Given the description of an element on the screen output the (x, y) to click on. 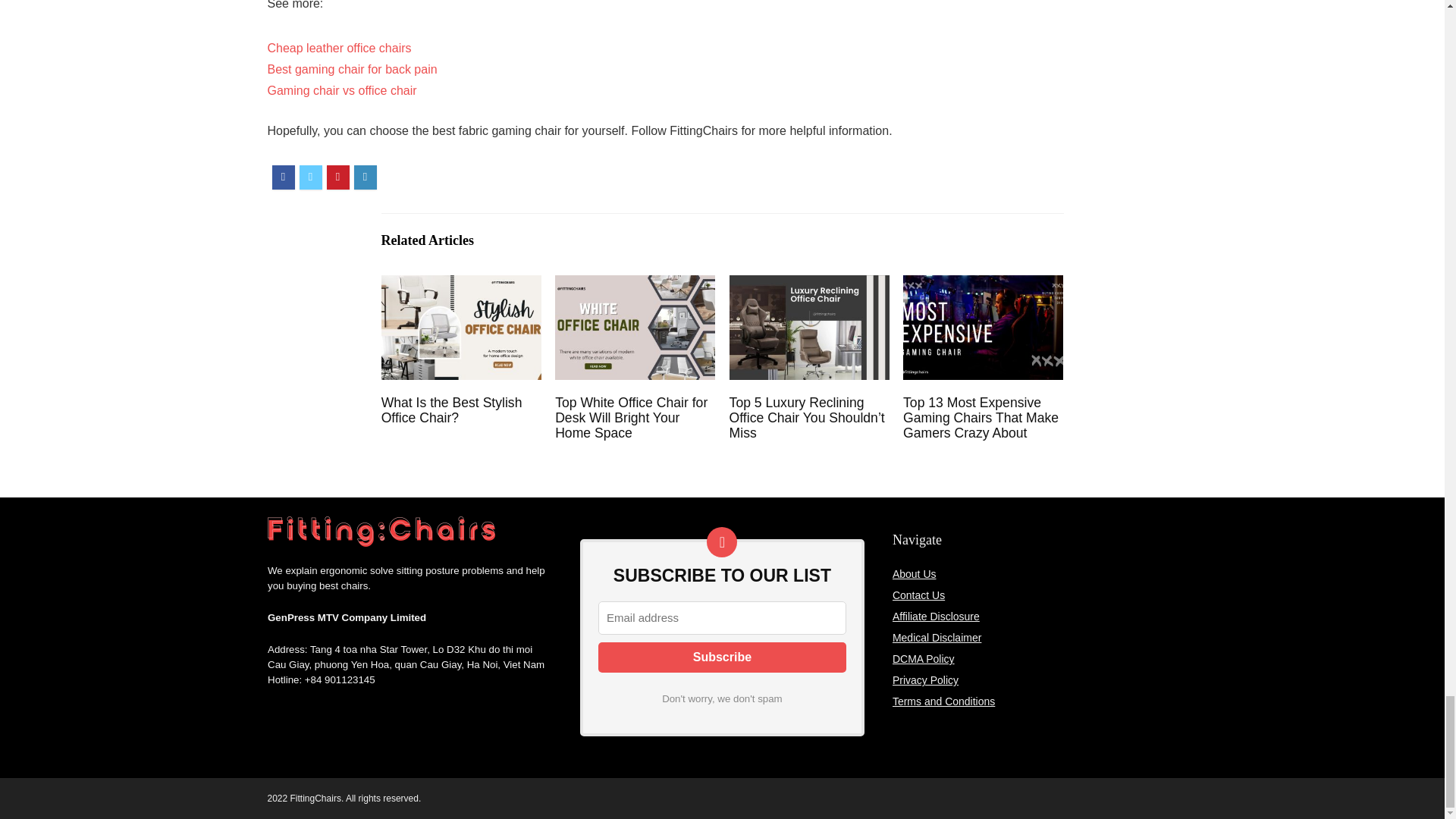
Contact Us (918, 594)
Terms and Conditions (943, 701)
Top White Office Chair for Desk Will Bright Your Home Space (630, 417)
Gaming chair vs office chair (341, 90)
Best gaming chair for back pain (351, 69)
Subscribe (721, 657)
Subscribe (721, 657)
What Is the Best Stylish Office Chair? (451, 409)
DCMA Policy (923, 658)
